Given the description of an element on the screen output the (x, y) to click on. 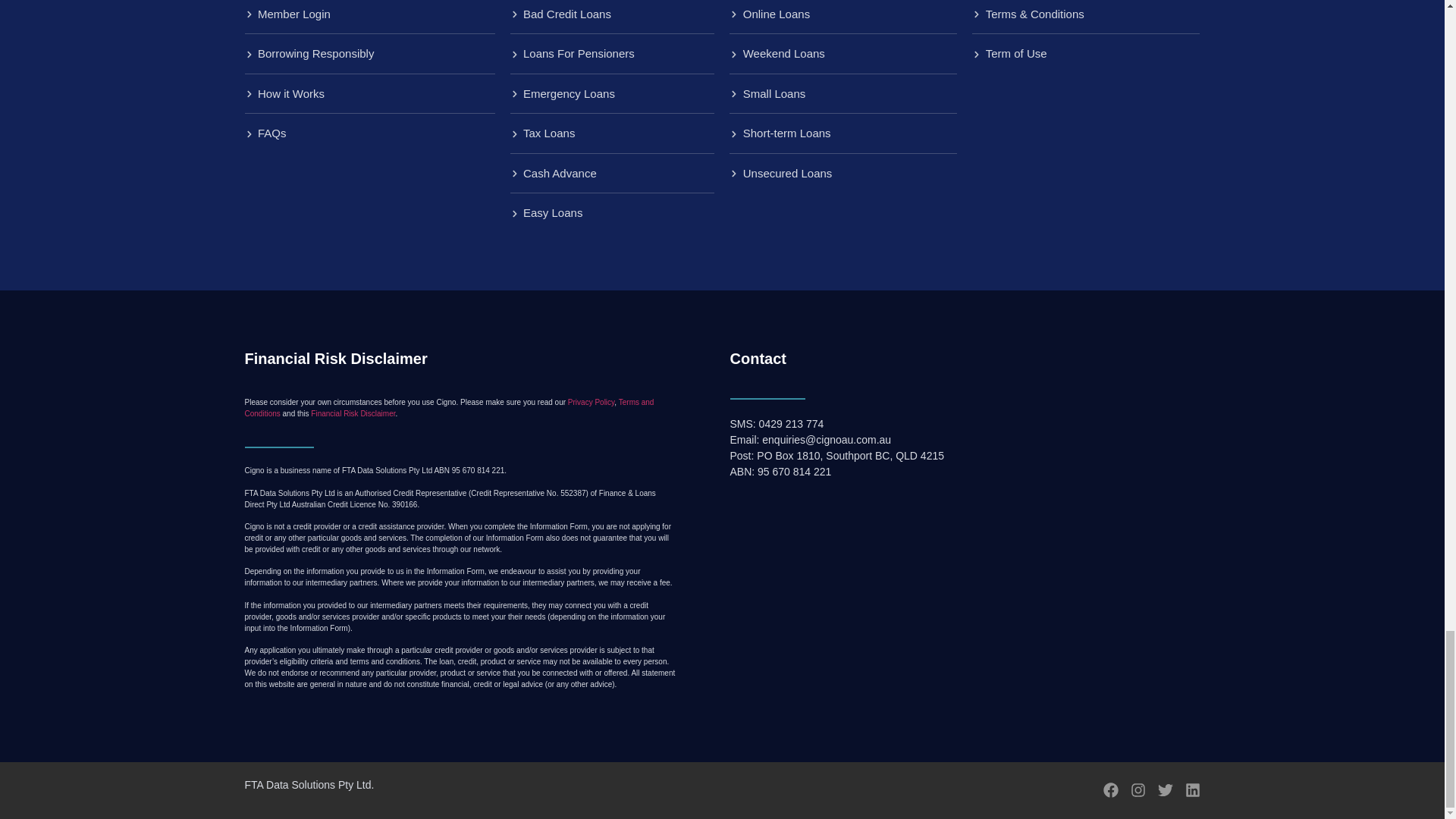
How it Works (369, 94)
FAQs (369, 133)
Member Login (369, 14)
Borrowing Responsibly (369, 54)
Bad Credit Loans (611, 14)
Loans For Pensioners (611, 54)
